Given the description of an element on the screen output the (x, y) to click on. 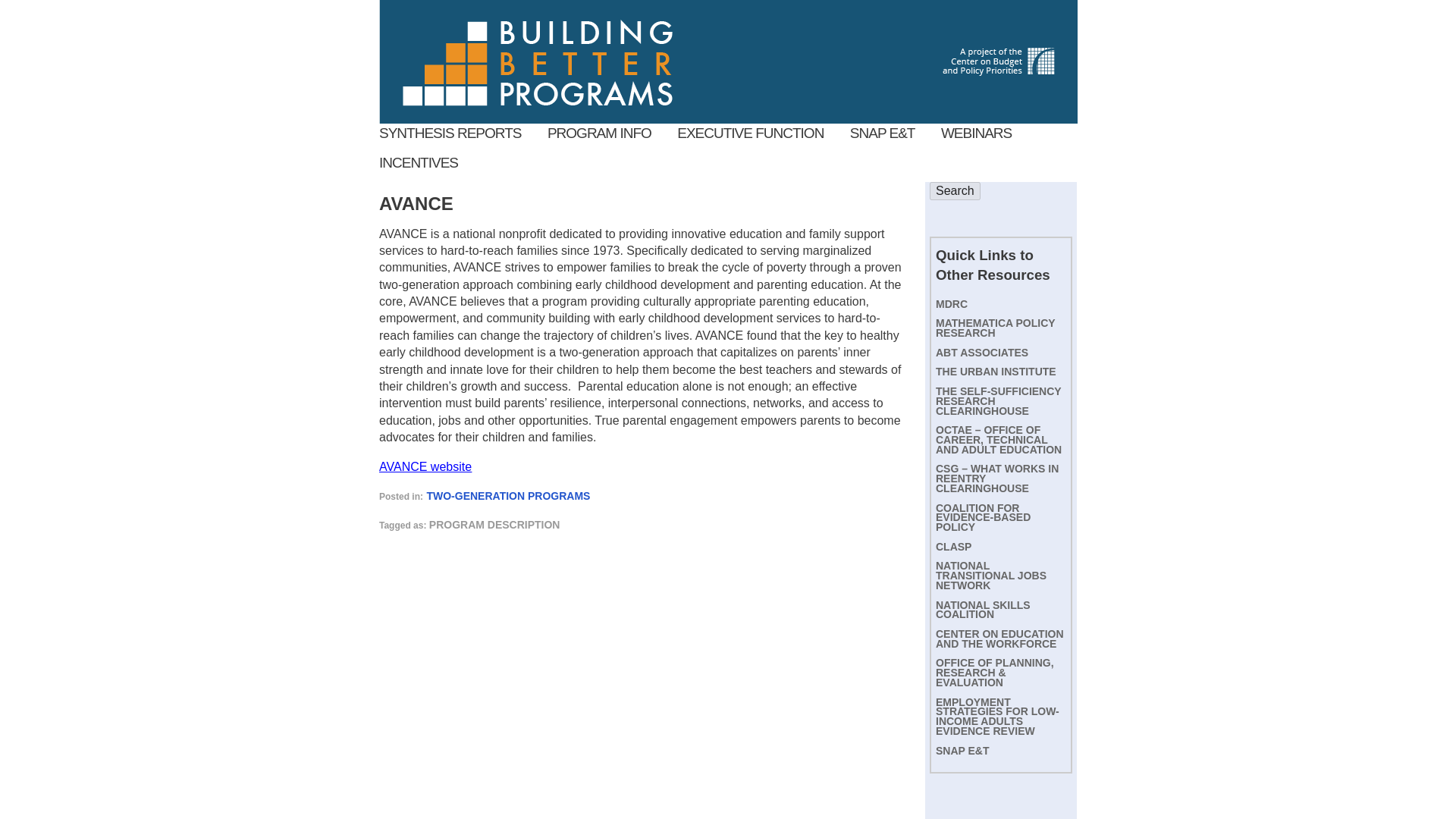
THE URBAN INSTITUTE (996, 371)
Search (954, 190)
ABT ASSOCIATES (981, 352)
CLASP (953, 546)
Search (954, 190)
CENTER ON EDUCATION AND THE WORKFORCE (1000, 639)
EXECUTIVE FUNCTION (750, 132)
TWO-GENERATION PROGRAMS (507, 495)
SYNTHESIS REPORTS (449, 132)
NATIONAL SKILLS COALITION (983, 609)
